Given the description of an element on the screen output the (x, y) to click on. 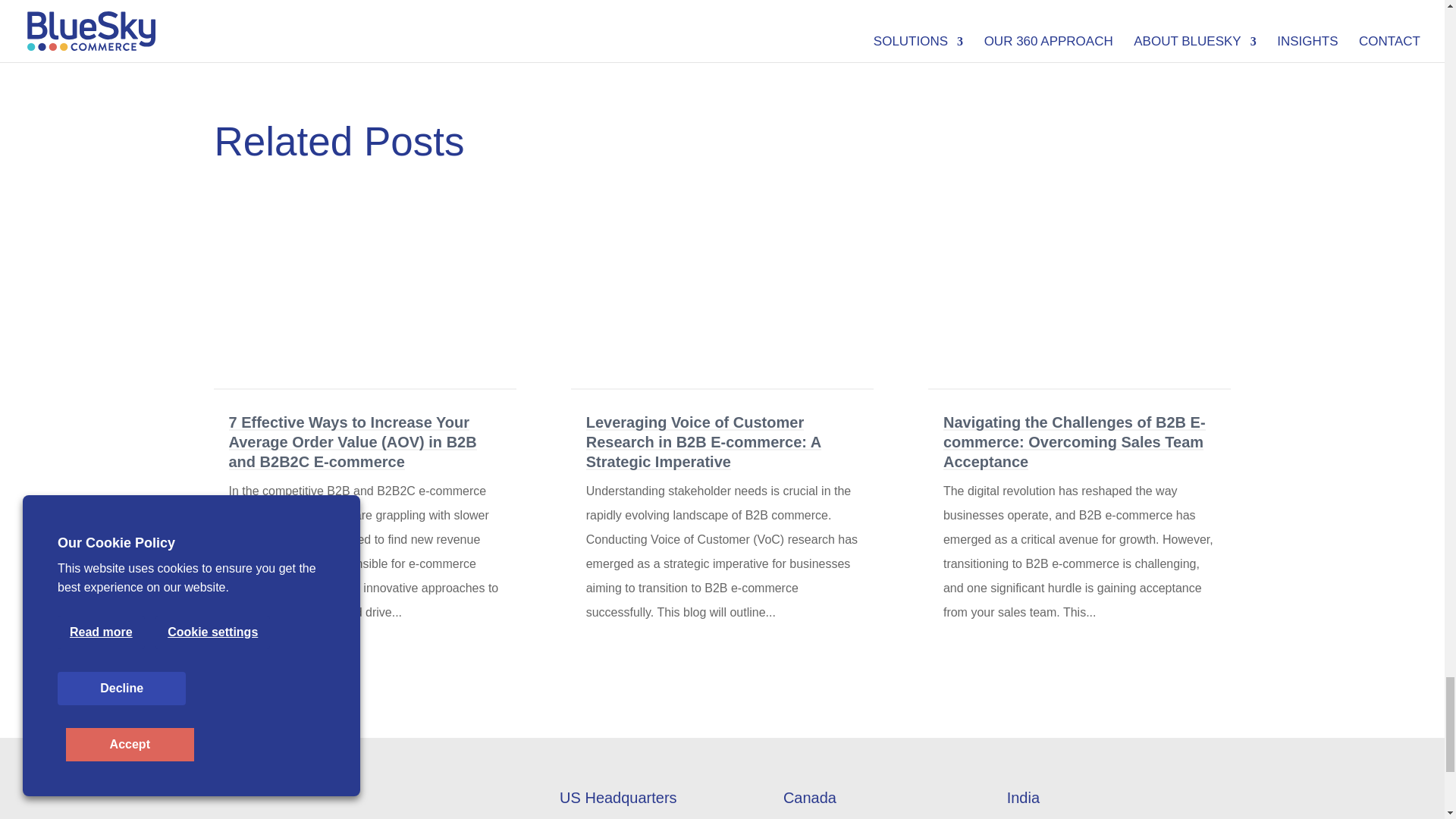
BlueSky Commerce (289, 803)
